Given the description of an element on the screen output the (x, y) to click on. 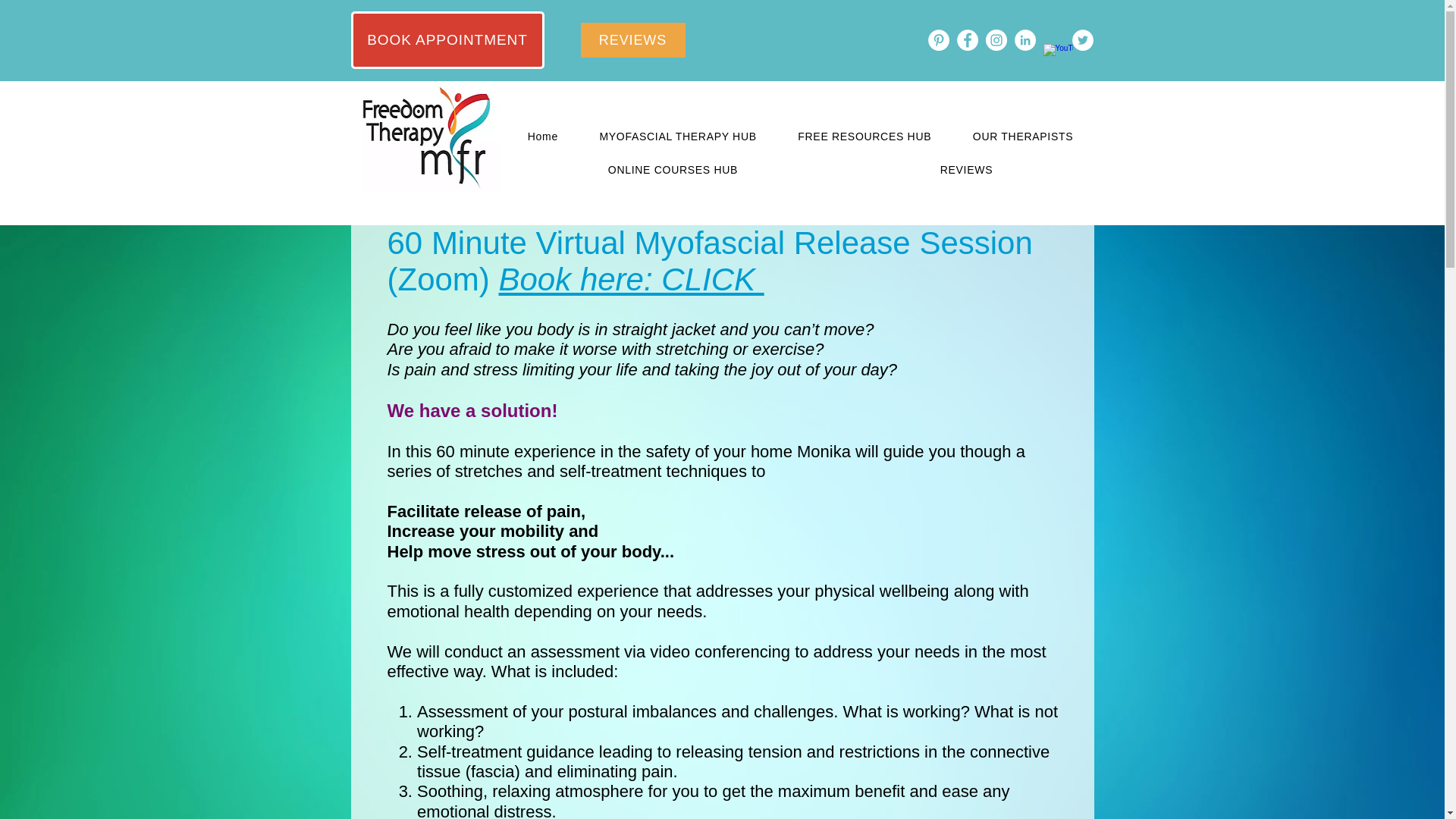
REVIEWS (965, 169)
Book here: CLICK  (631, 279)
FREE RESOURCES HUB (864, 135)
ONLINE COURSES HUB (672, 169)
REVIEWS (632, 39)
BOOK APPOINTMENT (446, 39)
OUR THERAPISTS (1023, 135)
MYOFASCIAL THERAPY HUB (677, 135)
Home (542, 135)
